Given the description of an element on the screen output the (x, y) to click on. 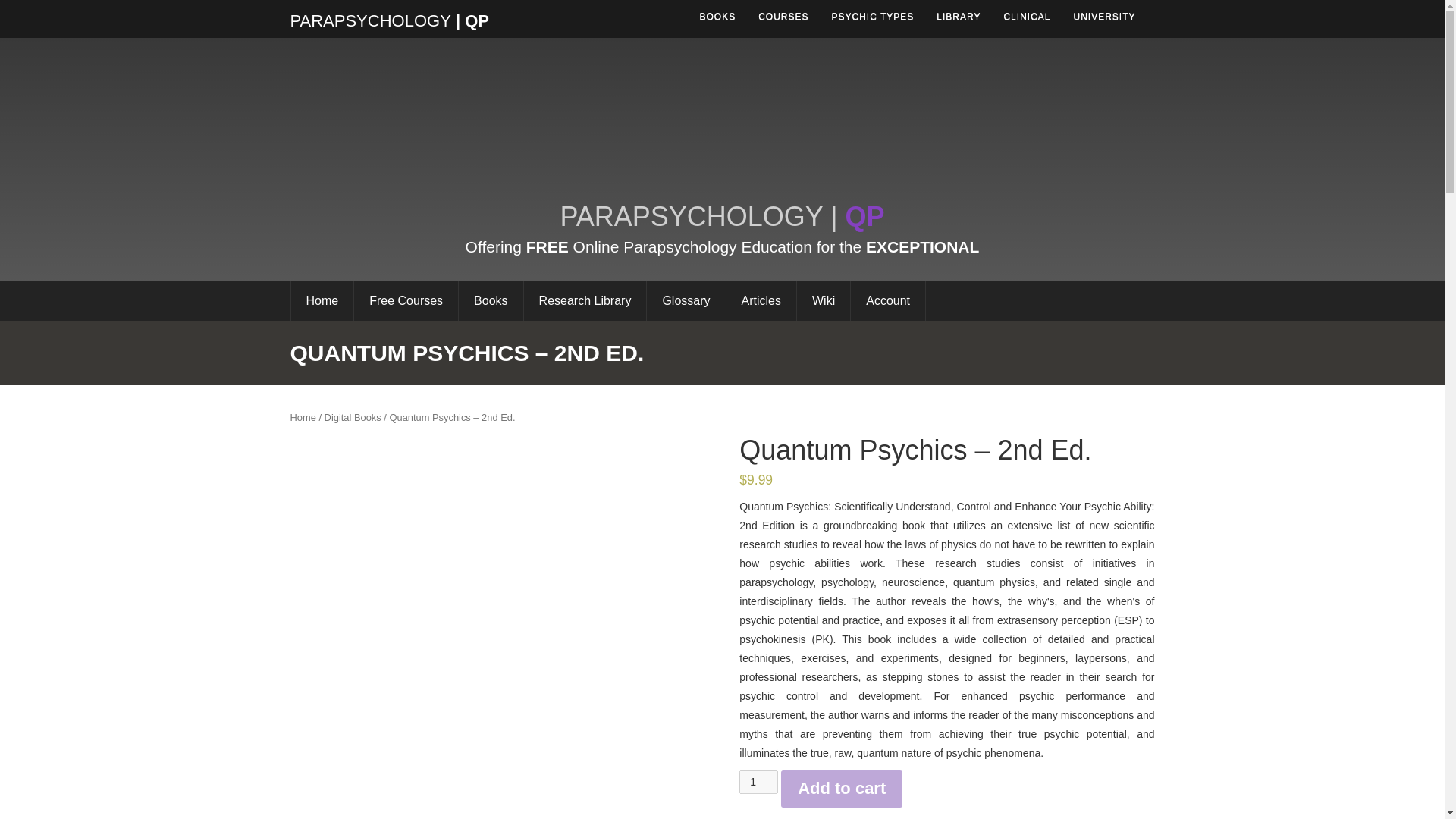
Research Library (584, 300)
PSYCHIC TYPES (873, 17)
Books (490, 300)
Home (302, 417)
1 (758, 781)
UNIVERSITY (1104, 17)
CLINICAL (1026, 17)
Glossary (685, 300)
LIBRARY (957, 17)
Add to cart (841, 788)
Wiki (823, 300)
BOOKS (716, 17)
Free Courses (405, 300)
COURSES (782, 17)
Home (321, 300)
